Given the description of an element on the screen output the (x, y) to click on. 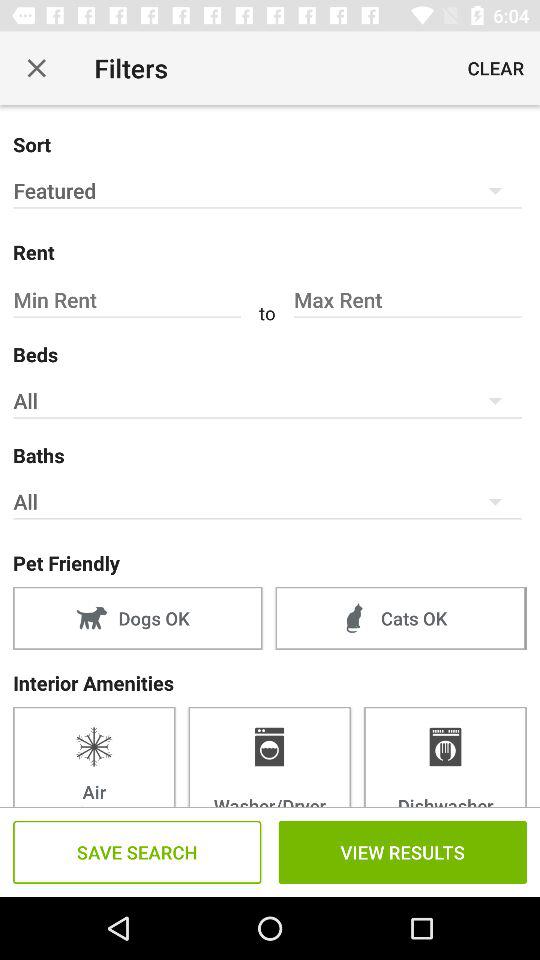
click the item next to the dogs ok item (400, 617)
